Given the description of an element on the screen output the (x, y) to click on. 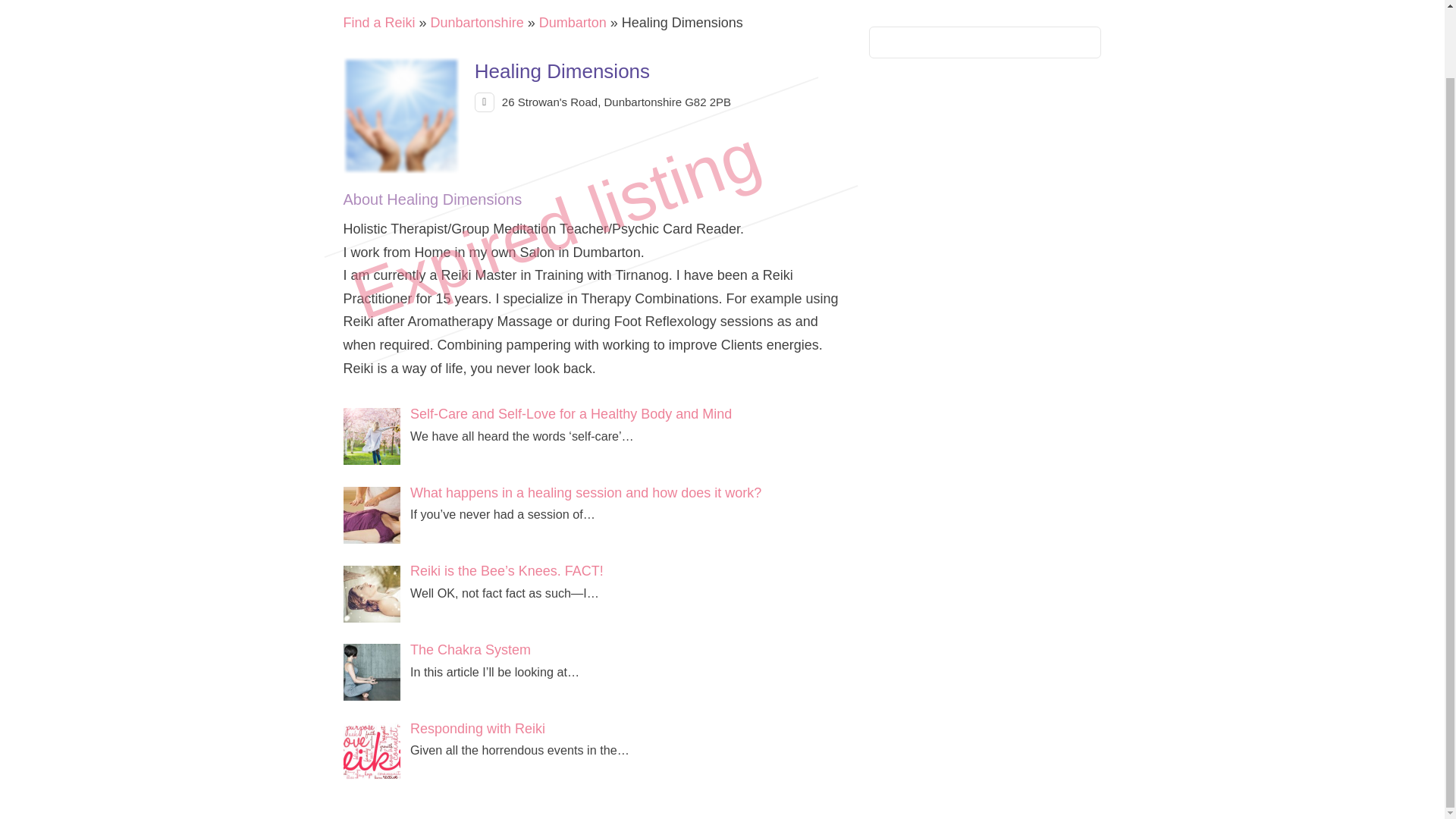
Responding with Reiki (477, 728)
Responding with Reiki (376, 752)
Dumbarton (572, 22)
Responding with Reiki (477, 728)
Self-Care and Self-Love for a Healthy Body and Mind (376, 437)
The Chakra System (470, 649)
Self-Care and Self-Love for a Healthy Body and Mind (571, 413)
Healing-Hands-image.jpg (401, 115)
The Chakra System (470, 649)
What happens in a healing session and how does it work? (585, 492)
